Given the description of an element on the screen output the (x, y) to click on. 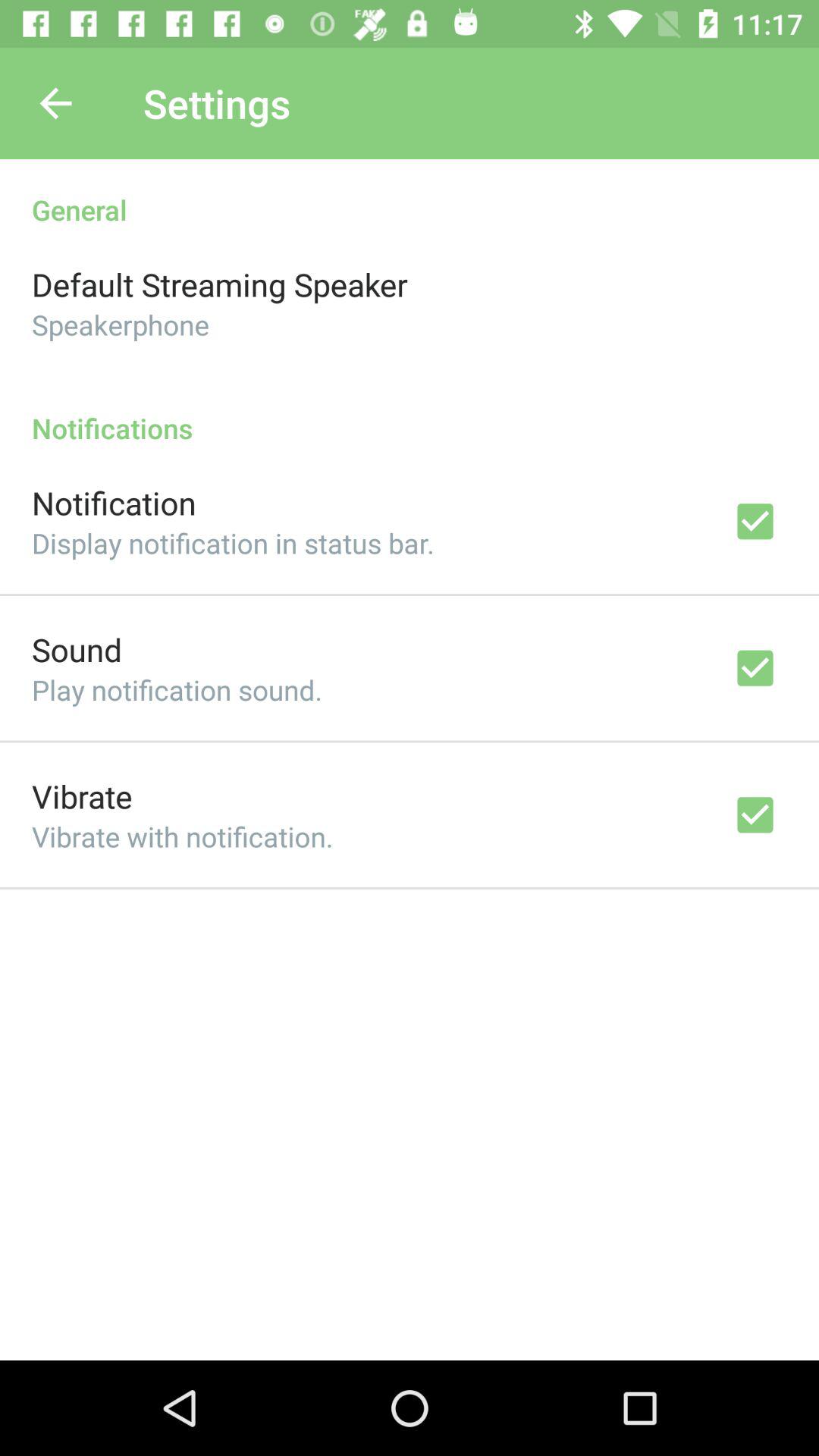
select item to the left of the settings icon (55, 103)
